Given the description of an element on the screen output the (x, y) to click on. 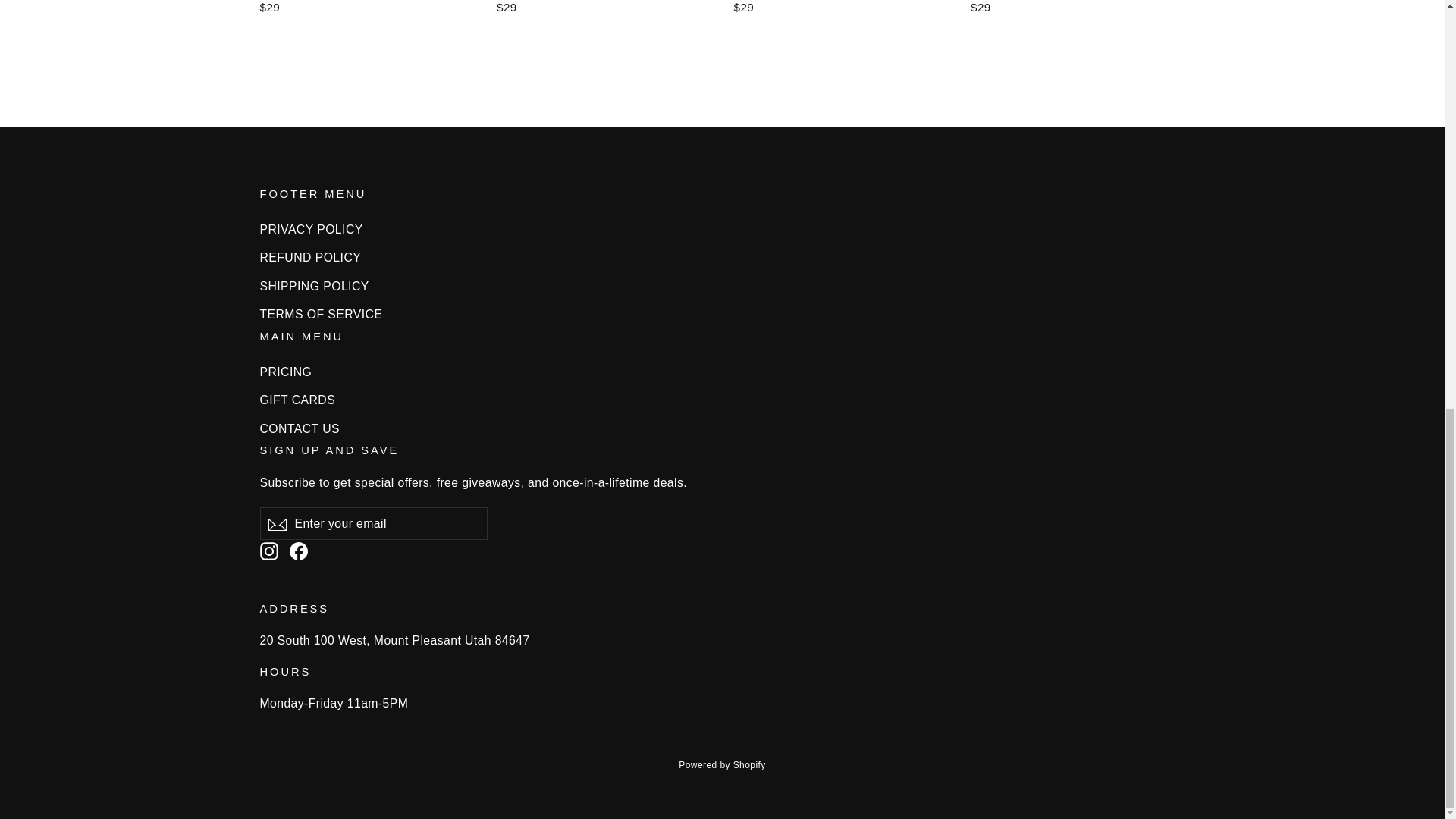
PRIVACY POLICY (722, 229)
Subscribe (276, 522)
Willow and Grace Avenue  on Facebook (298, 549)
GIFT CARDS (722, 399)
PRICING (722, 371)
SHIPPING POLICY (722, 285)
REFUND POLICY (722, 257)
CONTACT US (722, 428)
TERMS OF SERVICE (722, 314)
